Given the description of an element on the screen output the (x, y) to click on. 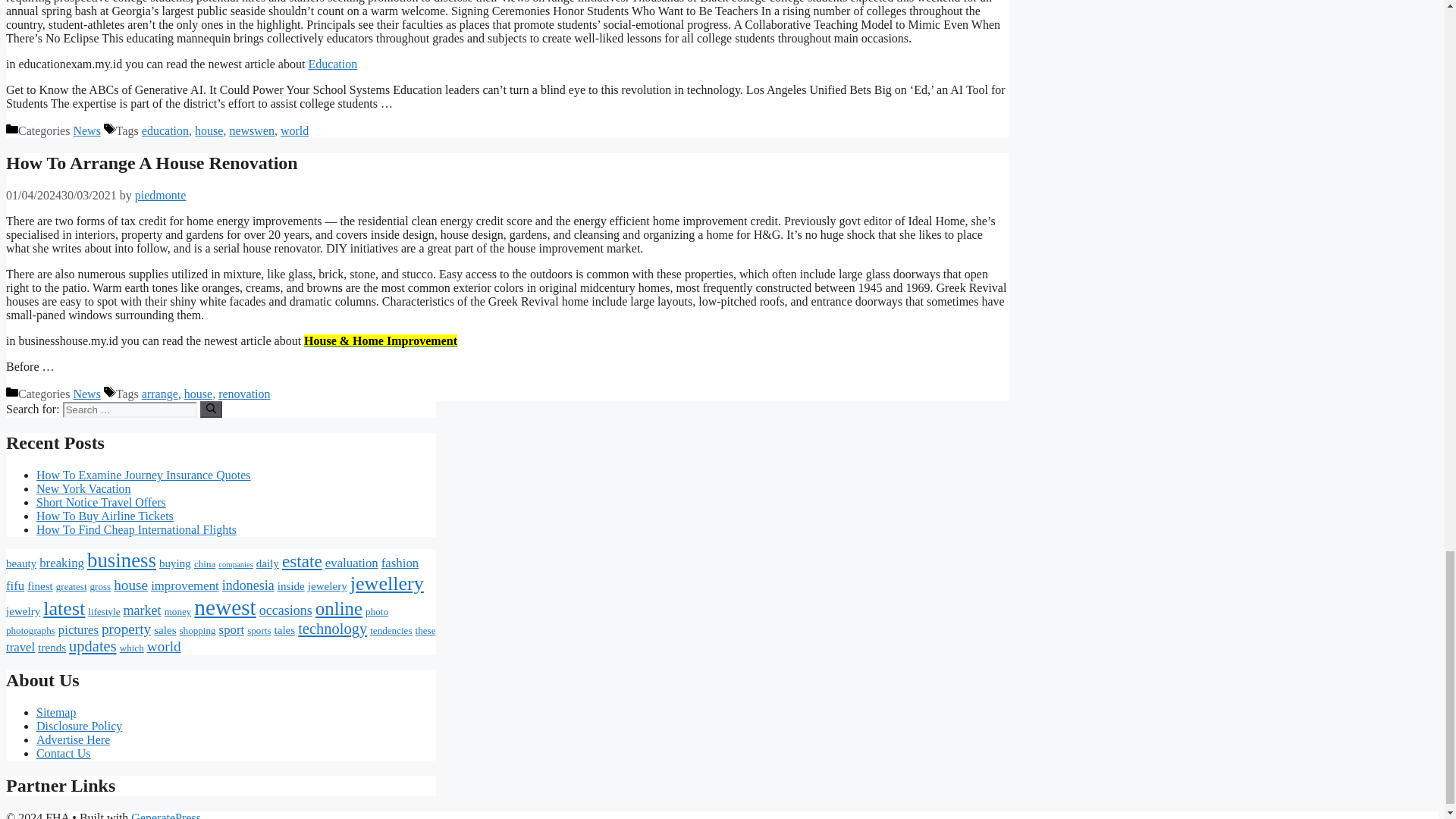
Search for: (129, 409)
View all posts by piedmonte (160, 195)
